Given the description of an element on the screen output the (x, y) to click on. 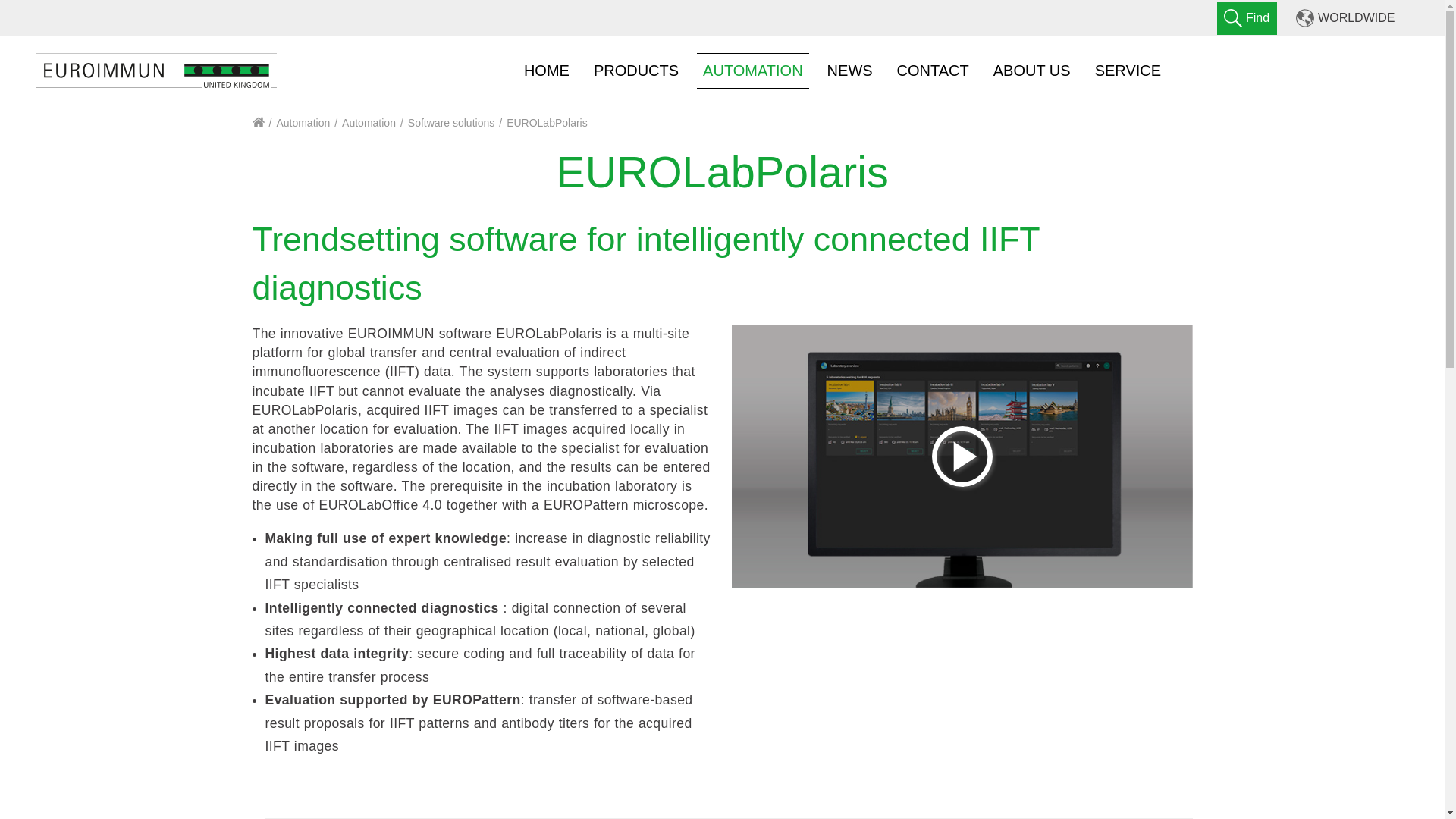
EUROLabPolaris (547, 122)
Automation (303, 122)
HOME (546, 70)
Software solutions (451, 122)
Your partner for the diagnostic laboratory (257, 122)
